Given the description of an element on the screen output the (x, y) to click on. 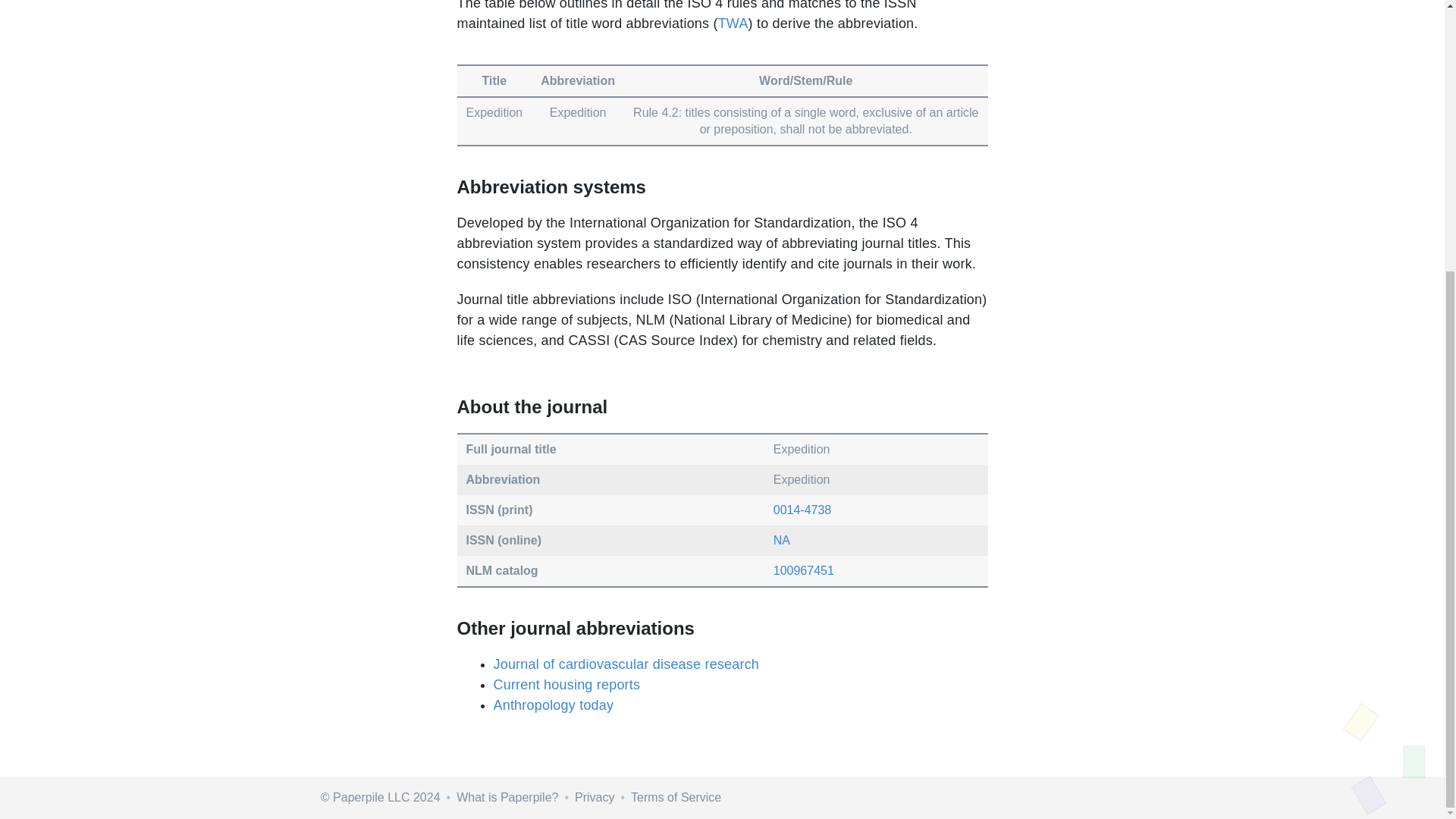
Anthropology today (552, 704)
Terms of Service (675, 797)
100967451 (803, 570)
TWA (732, 23)
0014-4738 (802, 509)
Privacy (594, 797)
Journal of cardiovascular disease research (625, 663)
NA (781, 540)
What is Paperpile? (506, 797)
Current housing reports (566, 684)
